Given the description of an element on the screen output the (x, y) to click on. 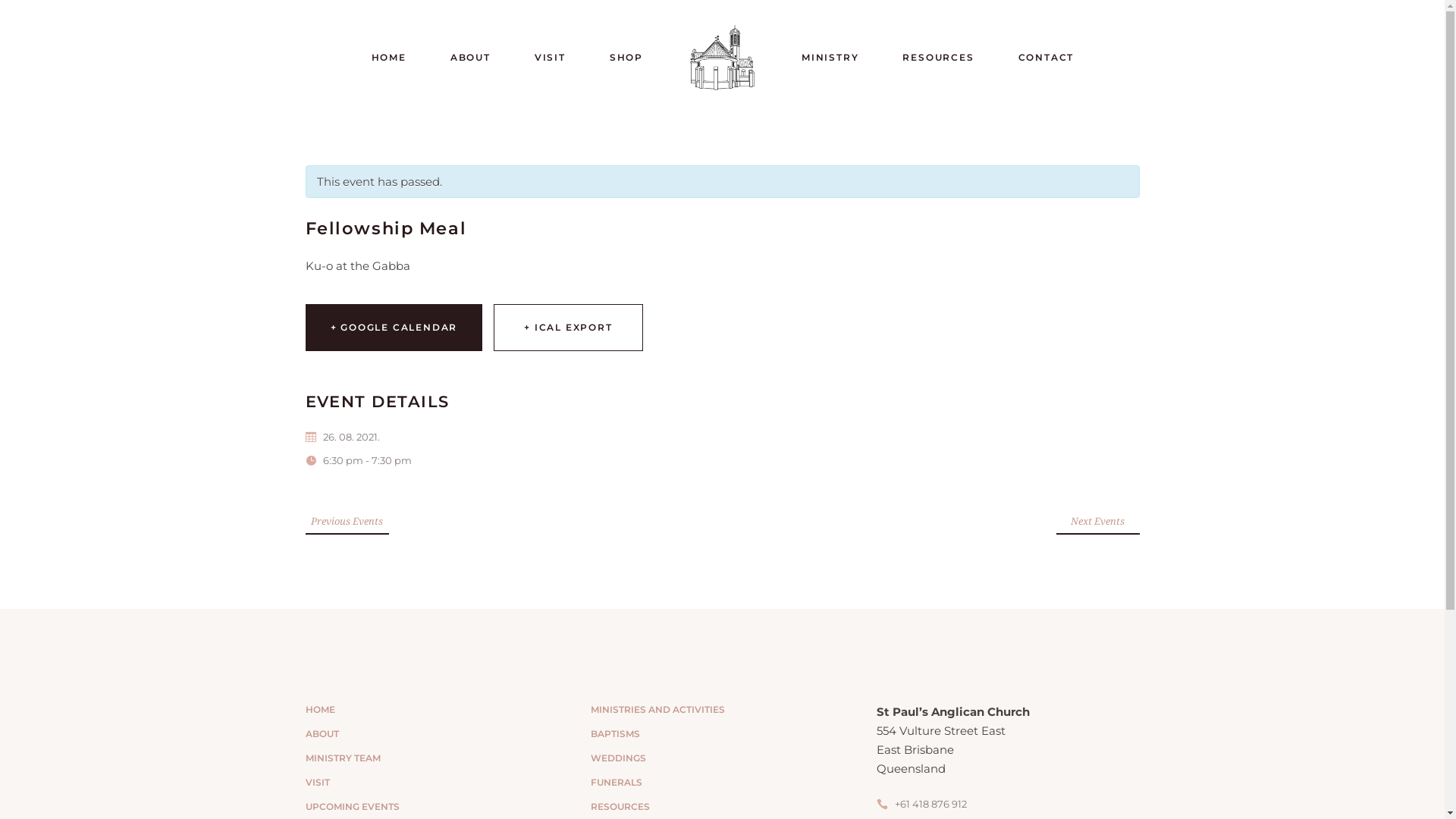
UPCOMING EVENTS Element type: text (351, 806)
CONTACT Element type: text (1046, 56)
WEDDINGS Element type: text (618, 757)
SHOP Element type: text (626, 56)
MINISTRIES AND ACTIVITIES Element type: text (657, 709)
FUNERALS Element type: text (616, 781)
VISIT Element type: text (316, 781)
VISIT Element type: text (549, 56)
+ ICAL EXPORT Element type: text (567, 327)
+61 418 876 912 Element type: text (921, 803)
ABOUT Element type: text (321, 733)
+ GOOGLE CALENDAR Element type: text (393, 327)
ABOUT Element type: text (470, 56)
BAPTISMS Element type: text (615, 733)
HOME Element type: text (319, 709)
RESOURCES Element type: text (619, 806)
Next Events Element type: text (1097, 518)
MINISTRY TEAM Element type: text (341, 757)
Previous Events Element type: text (346, 518)
RESOURCES Element type: text (937, 56)
MINISTRY Element type: text (829, 56)
HOME Element type: text (388, 56)
